Given the description of an element on the screen output the (x, y) to click on. 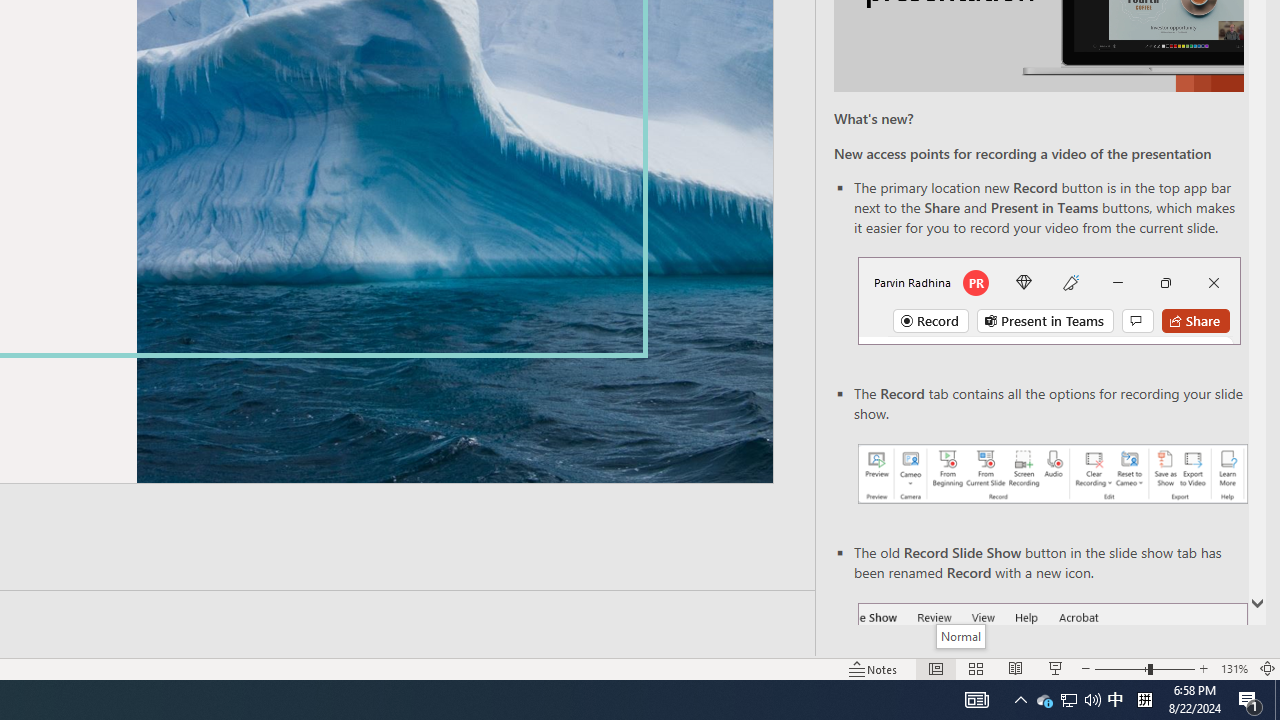
Record button in top bar (1049, 300)
Record your presentations screenshot one (1052, 473)
Zoom 131% (1234, 668)
